Given the description of an element on the screen output the (x, y) to click on. 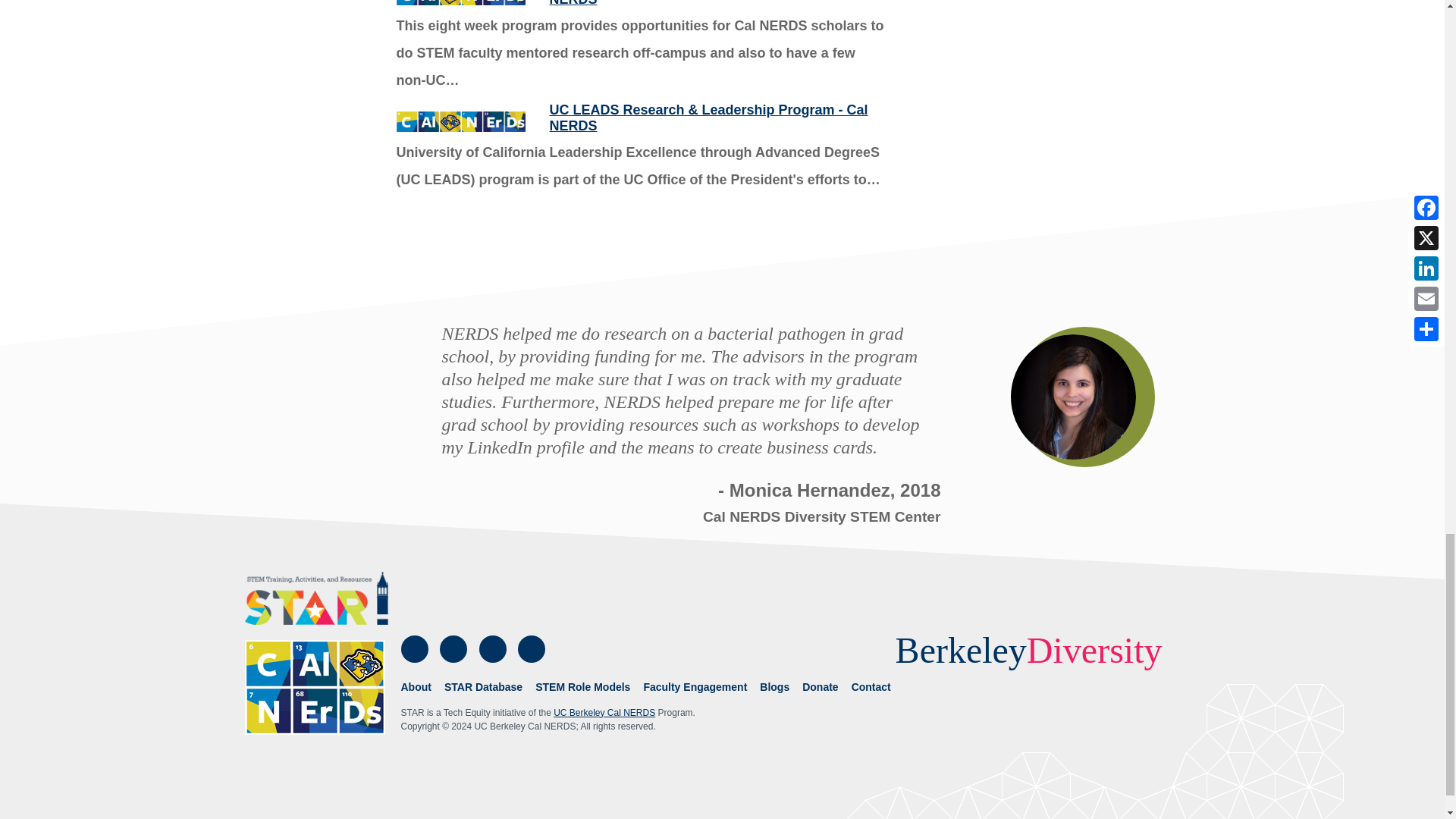
Faculty Engagement (694, 687)
Blogs (774, 687)
STAR Database (483, 687)
STEM Role Models (582, 687)
About (415, 687)
